Given the description of an element on the screen output the (x, y) to click on. 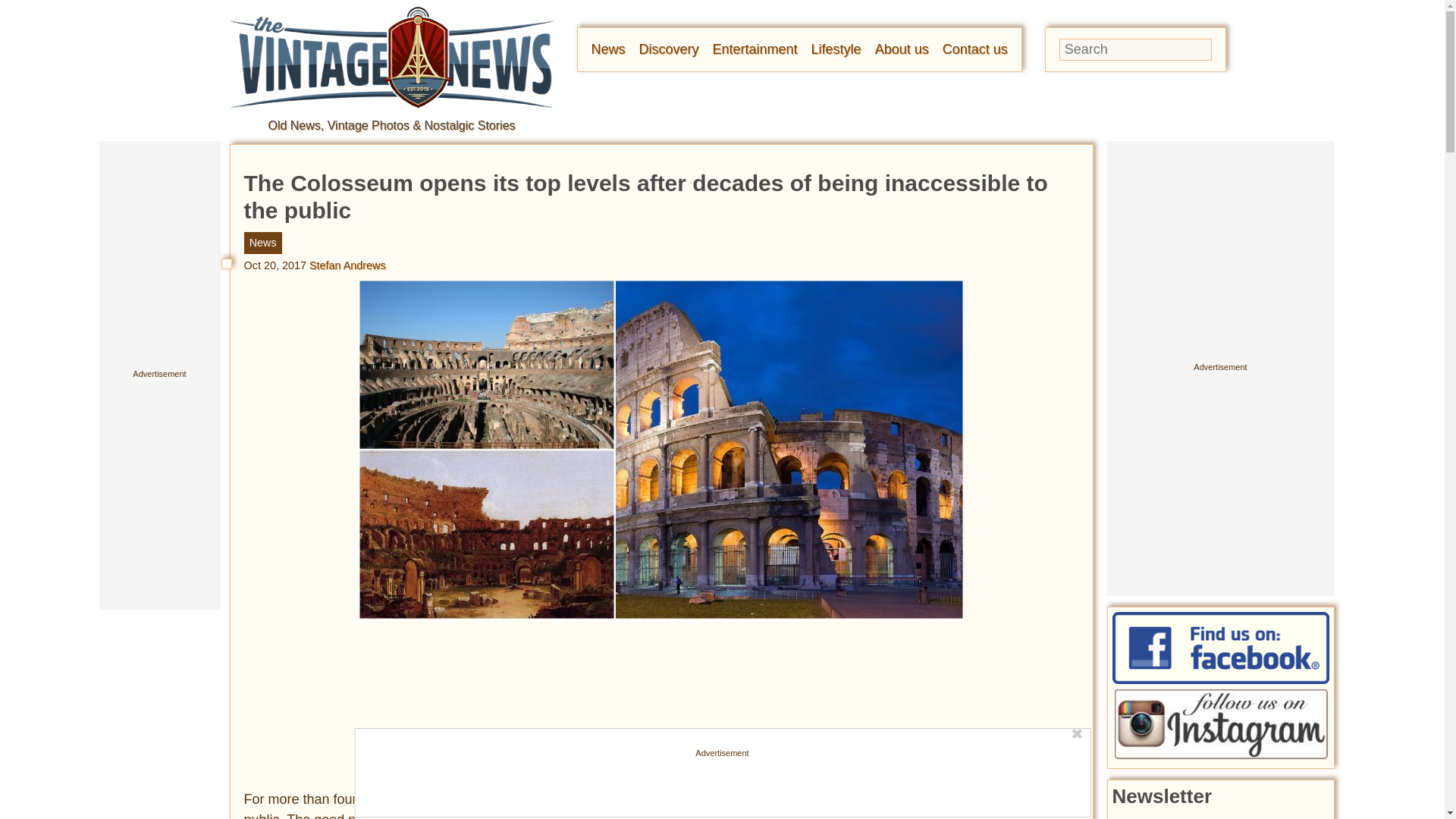
News (608, 48)
Discovery (668, 48)
Entertainment (755, 48)
Lifestyle (835, 48)
About us (901, 48)
Contact us (974, 48)
